Given the description of an element on the screen output the (x, y) to click on. 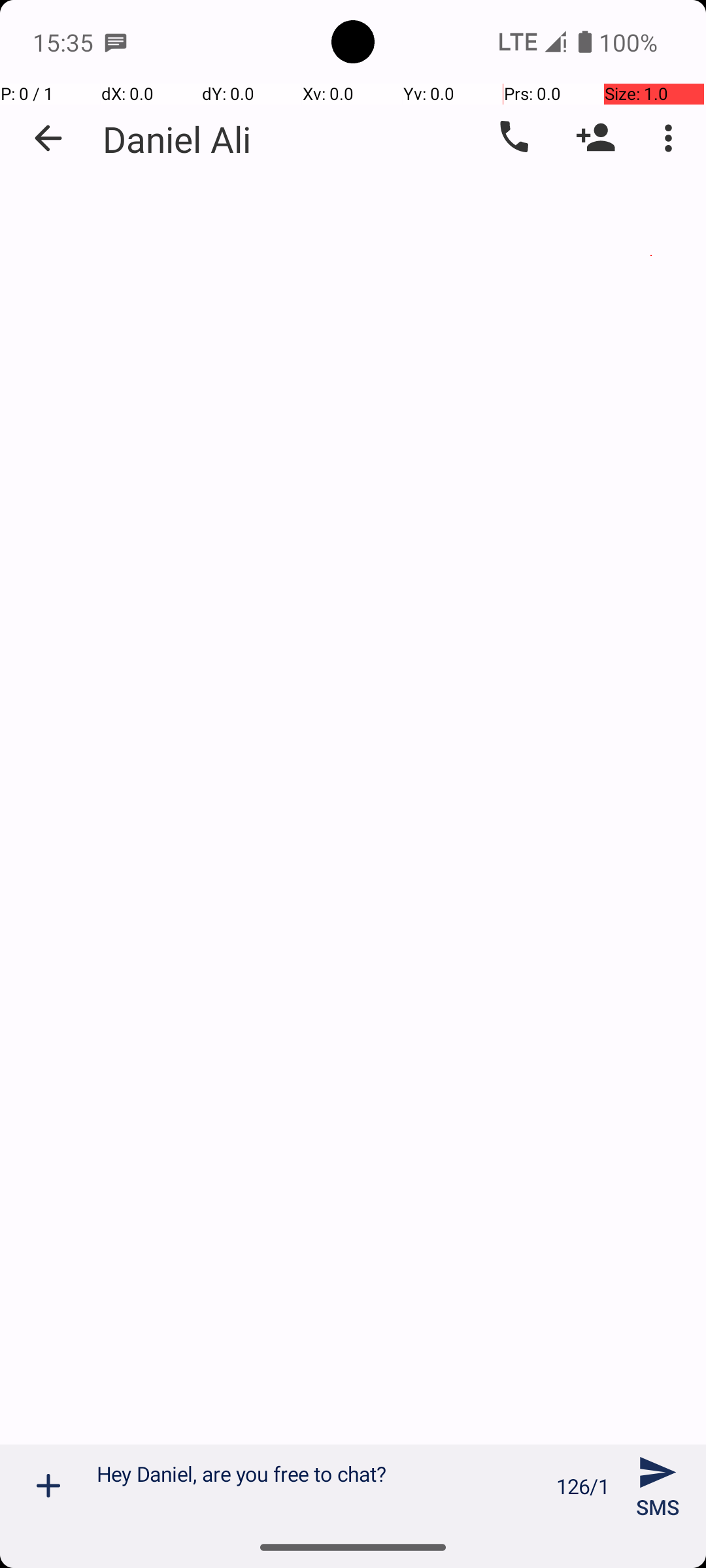
Hey Daniel, are you free to chat?
 Element type: android.widget.EditText (318, 1485)
126/1 Element type: android.widget.TextView (582, 1485)
SMS Messenger notification: Isla da Silva Element type: android.widget.ImageView (115, 41)
